Given the description of an element on the screen output the (x, y) to click on. 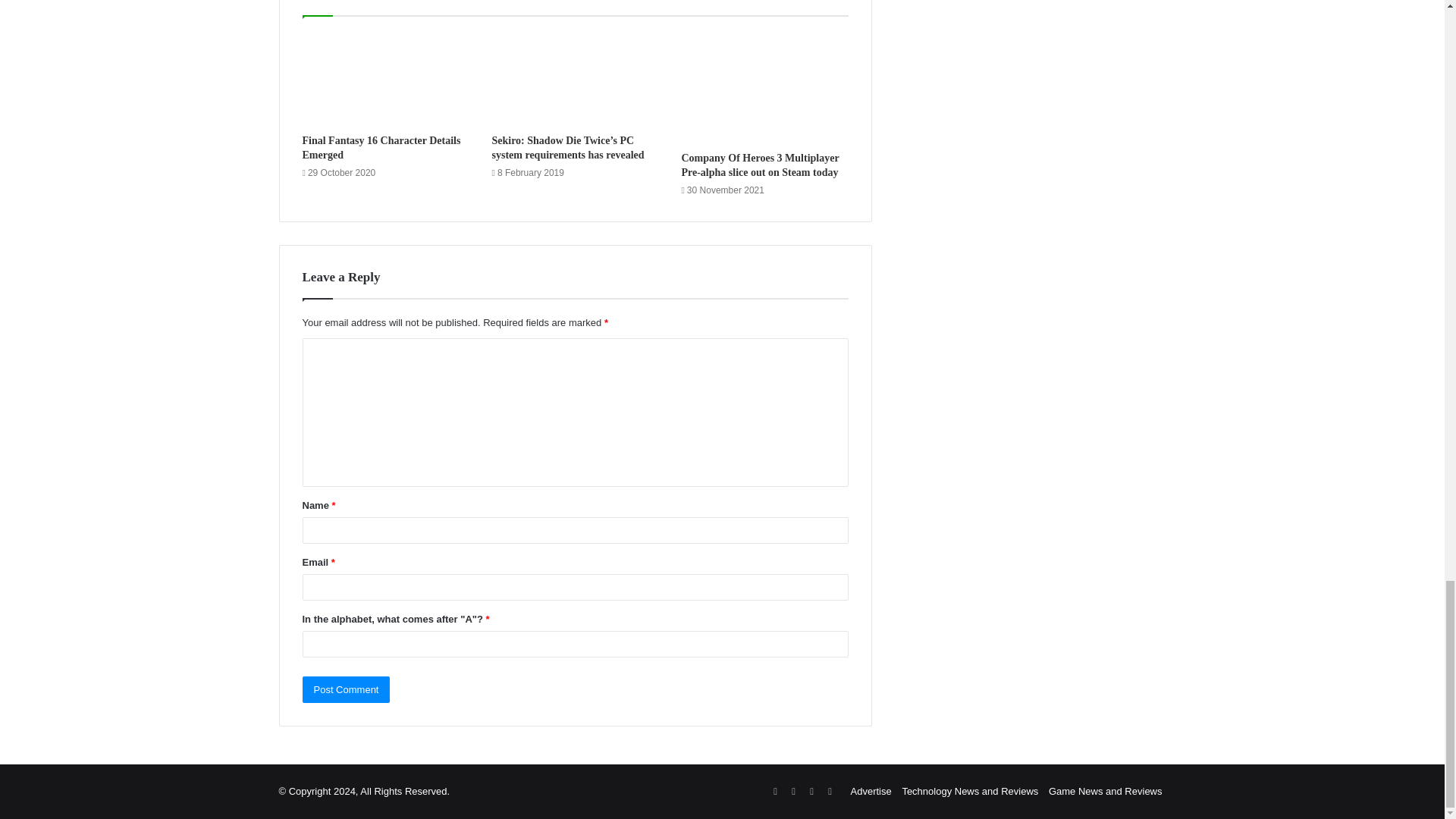
Post Comment (345, 689)
Final Fantasy 16 Character Details Emerged 3 (384, 78)
